Given the description of an element on the screen output the (x, y) to click on. 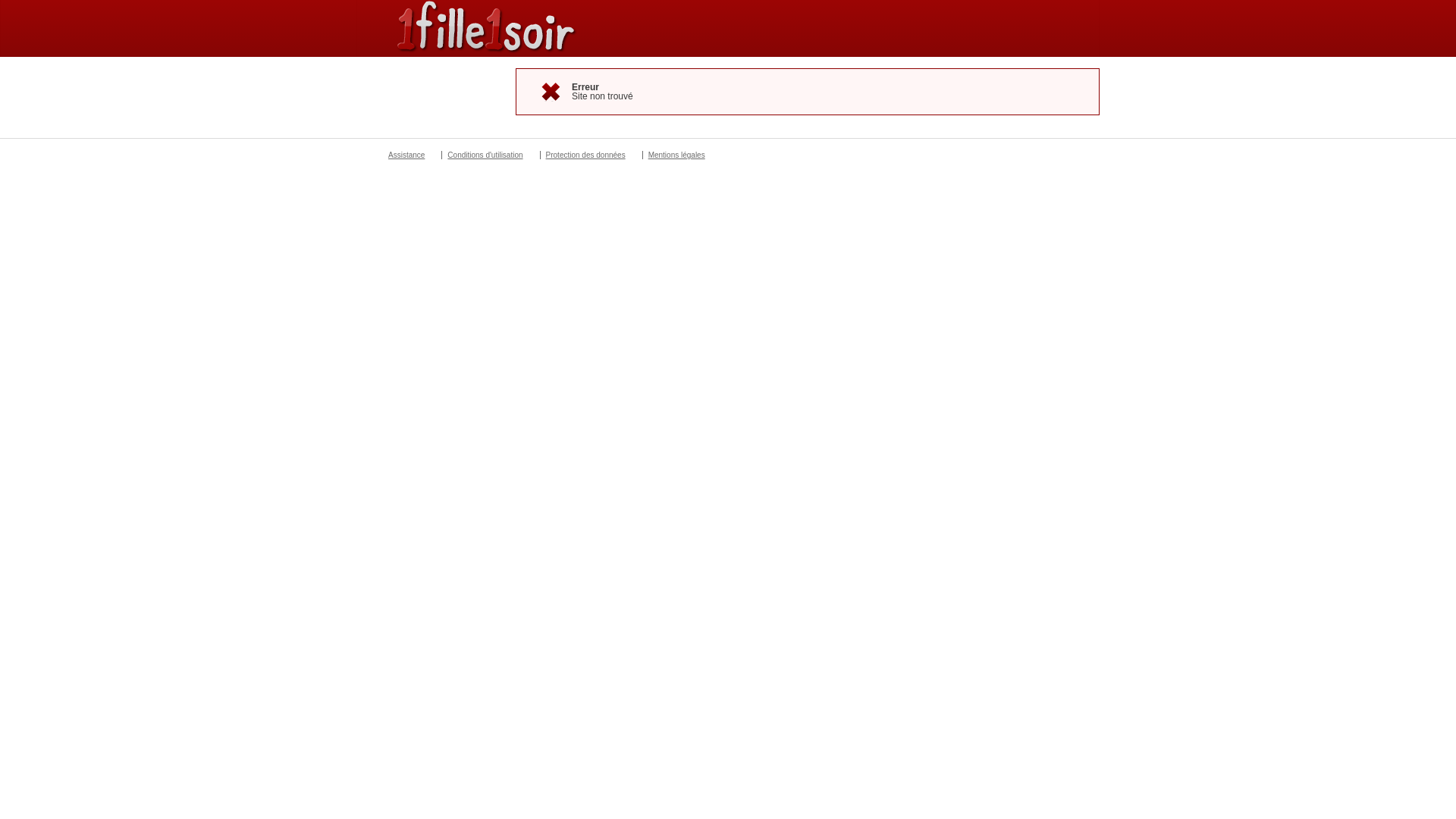
Conditions d'utilisation Element type: text (484, 154)
Assistance Element type: text (405, 154)
